Given the description of an element on the screen output the (x, y) to click on. 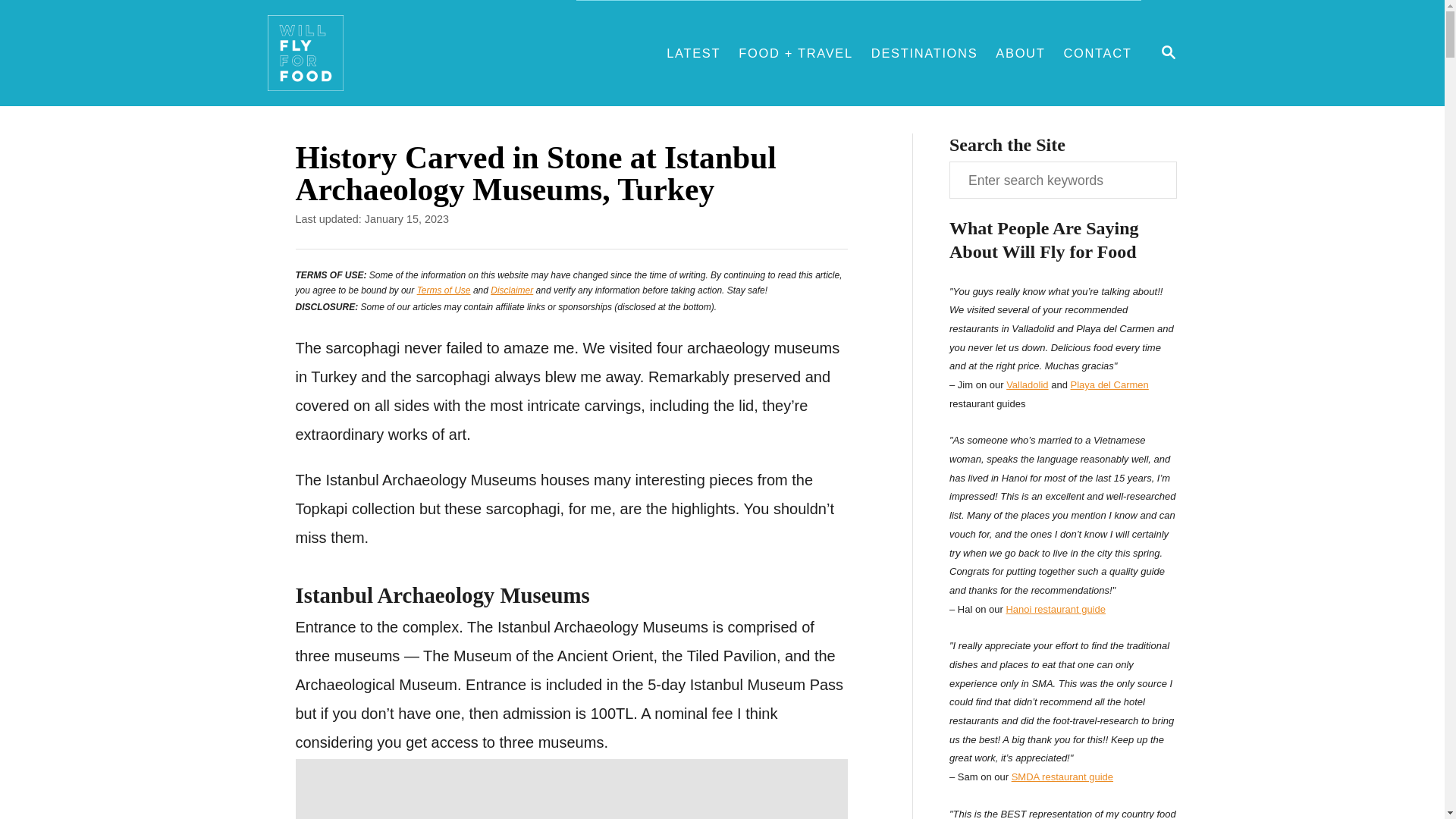
CONTACT (1097, 53)
LATEST (693, 53)
Will Fly for Food (420, 60)
ABOUT (1020, 53)
MAGNIFYING GLASS (1167, 51)
Disclaimer (511, 290)
Istanbul Archaeological Museums, Turkey (571, 789)
DESTINATIONS (924, 53)
Terms of Use (443, 290)
